Given the description of an element on the screen output the (x, y) to click on. 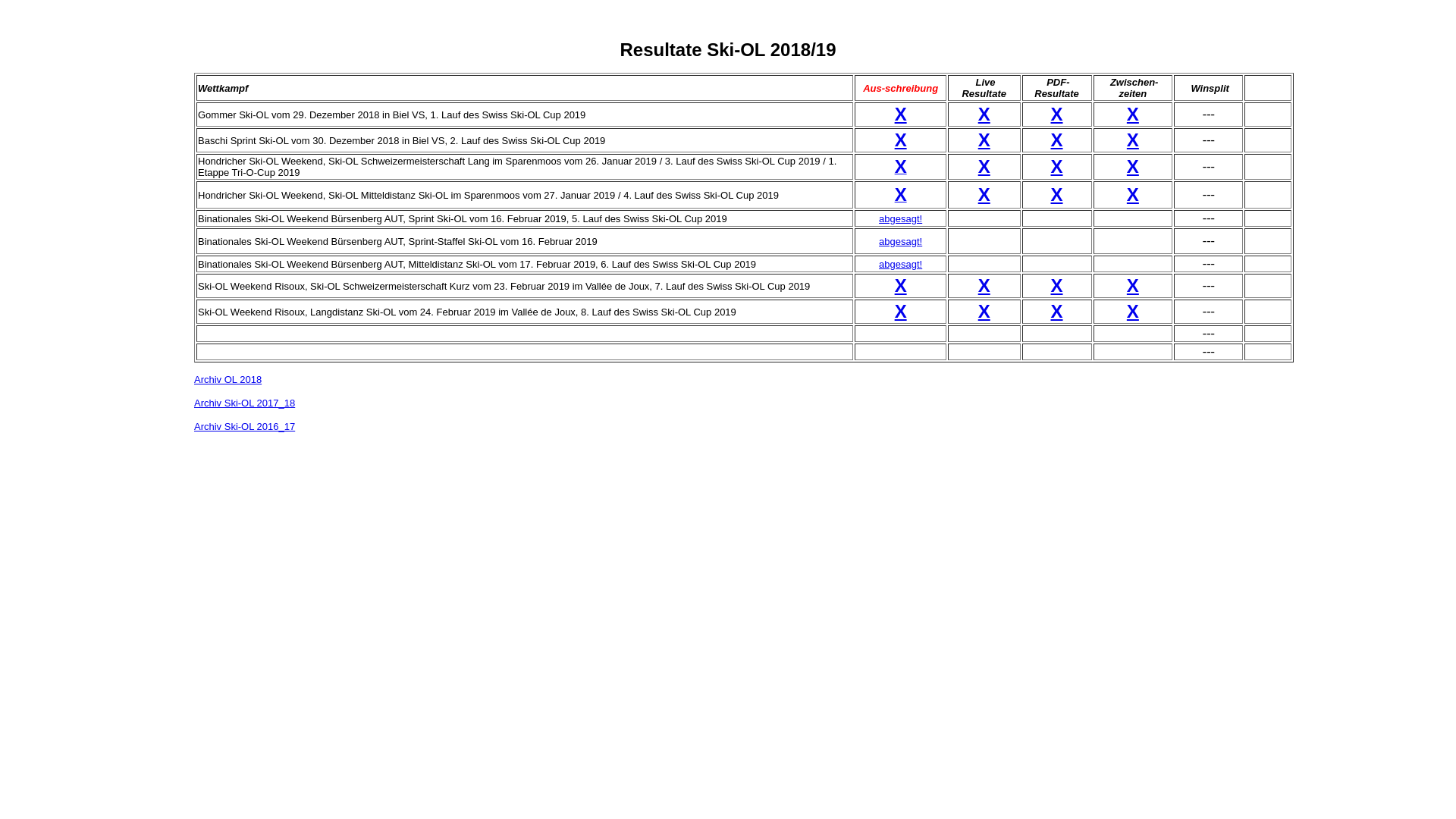
X Element type: text (1057, 311)
X Element type: text (1057, 166)
X Element type: text (1132, 285)
X Element type: text (1057, 113)
X Element type: text (984, 194)
X Element type: text (984, 166)
X Element type: text (1132, 311)
X Element type: text (1132, 113)
X Element type: text (900, 285)
X Element type: text (900, 139)
X Element type: text (900, 168)
X Element type: text (1057, 139)
X Element type: text (1132, 139)
Archiv Ski-OL 2017_18 Element type: text (244, 402)
X Element type: text (984, 139)
Archiv OL 2018 Element type: text (227, 379)
X Element type: text (1057, 285)
abgesagt! Element type: text (900, 240)
X Element type: text (1132, 166)
X Element type: text (1132, 194)
Archiv Ski-OL 2016_17 Element type: text (244, 426)
X Element type: text (984, 113)
abgesagt! Element type: text (900, 263)
X Element type: text (900, 196)
abgesagt! Element type: text (900, 217)
X Element type: text (984, 311)
X Element type: text (1057, 194)
X Element type: text (984, 285)
X Element type: text (900, 311)
X Element type: text (900, 113)
